Given the description of an element on the screen output the (x, y) to click on. 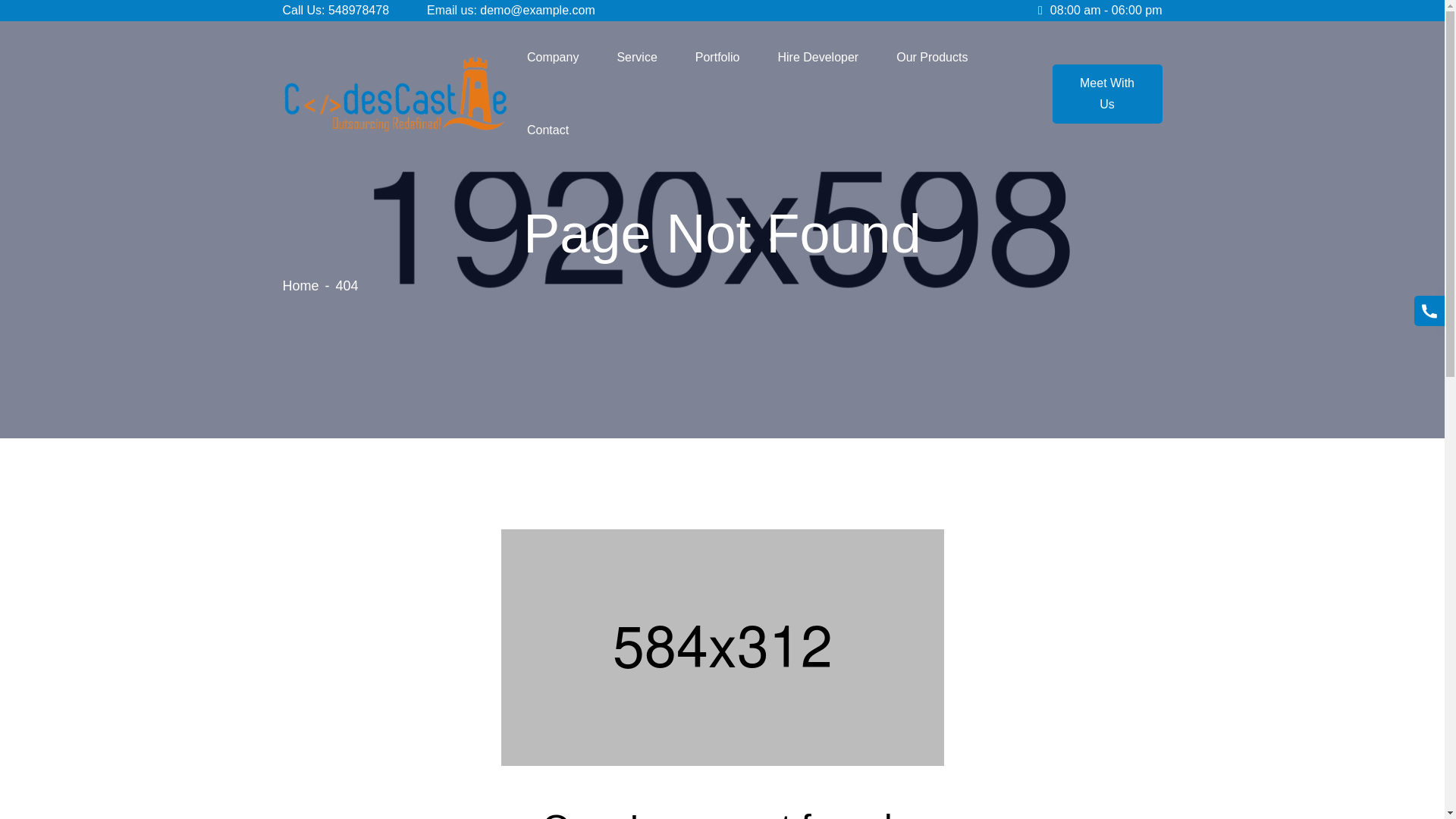
Logo (394, 93)
